Given the description of an element on the screen output the (x, y) to click on. 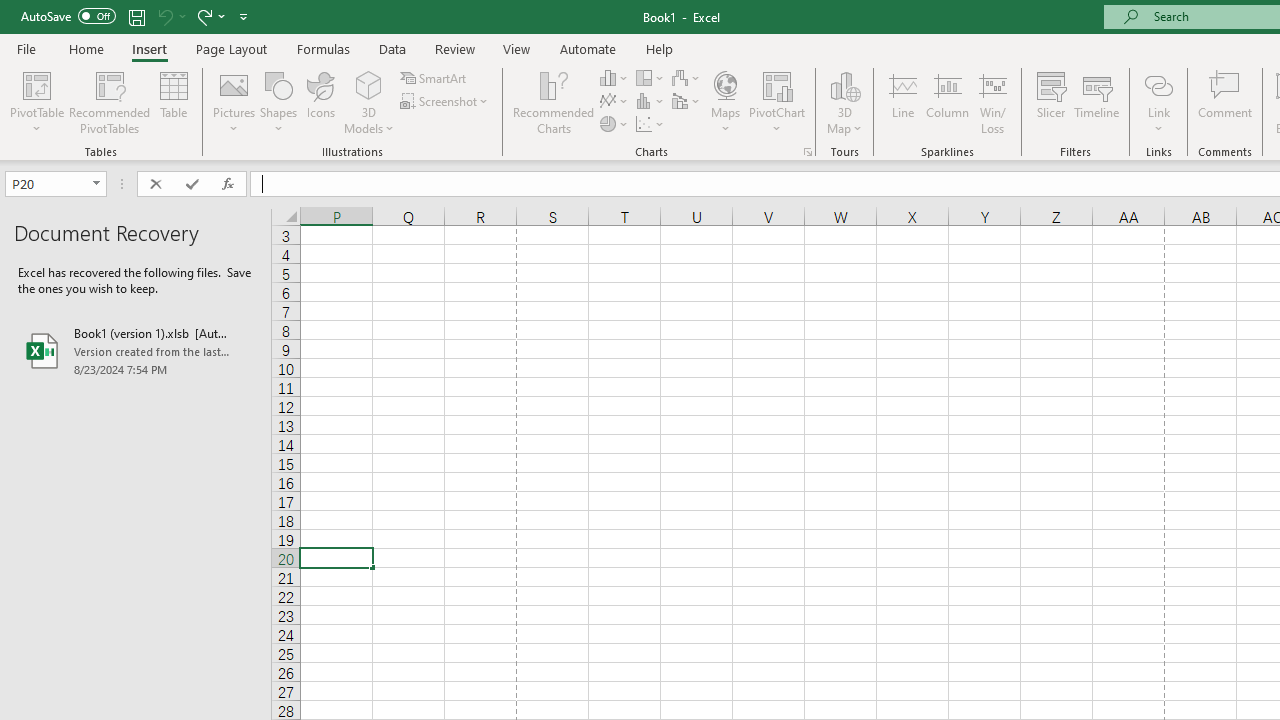
Insert Statistic Chart (651, 101)
Insert Column or Bar Chart (614, 78)
Pictures (234, 102)
Insert Hierarchy Chart (651, 78)
Table (173, 102)
3D Map (845, 84)
Comment (1224, 102)
Maps (726, 102)
PivotTable (36, 84)
